Given the description of an element on the screen output the (x, y) to click on. 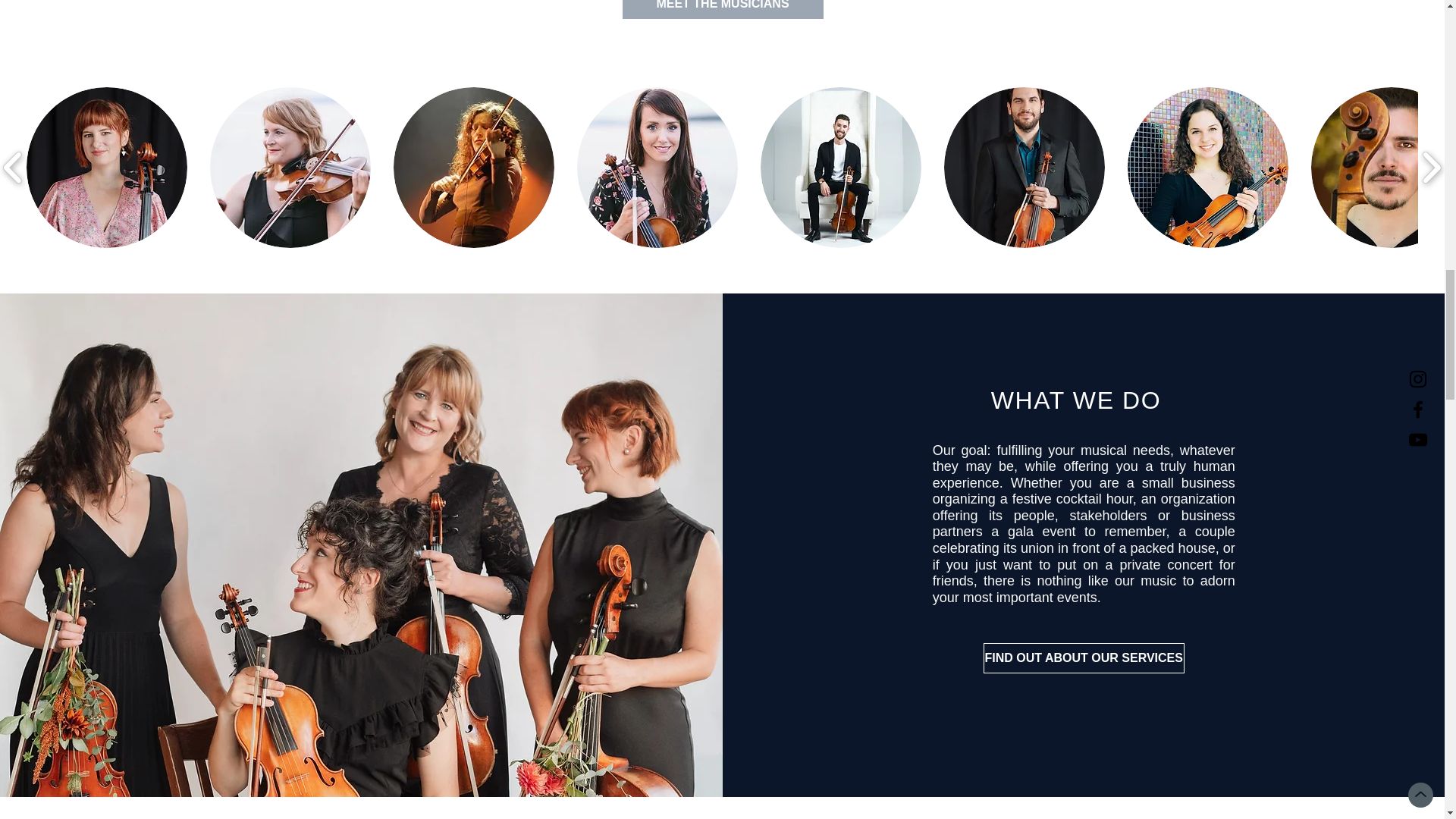
MEET THE MUSICIANS (721, 9)
